Given the description of an element on the screen output the (x, y) to click on. 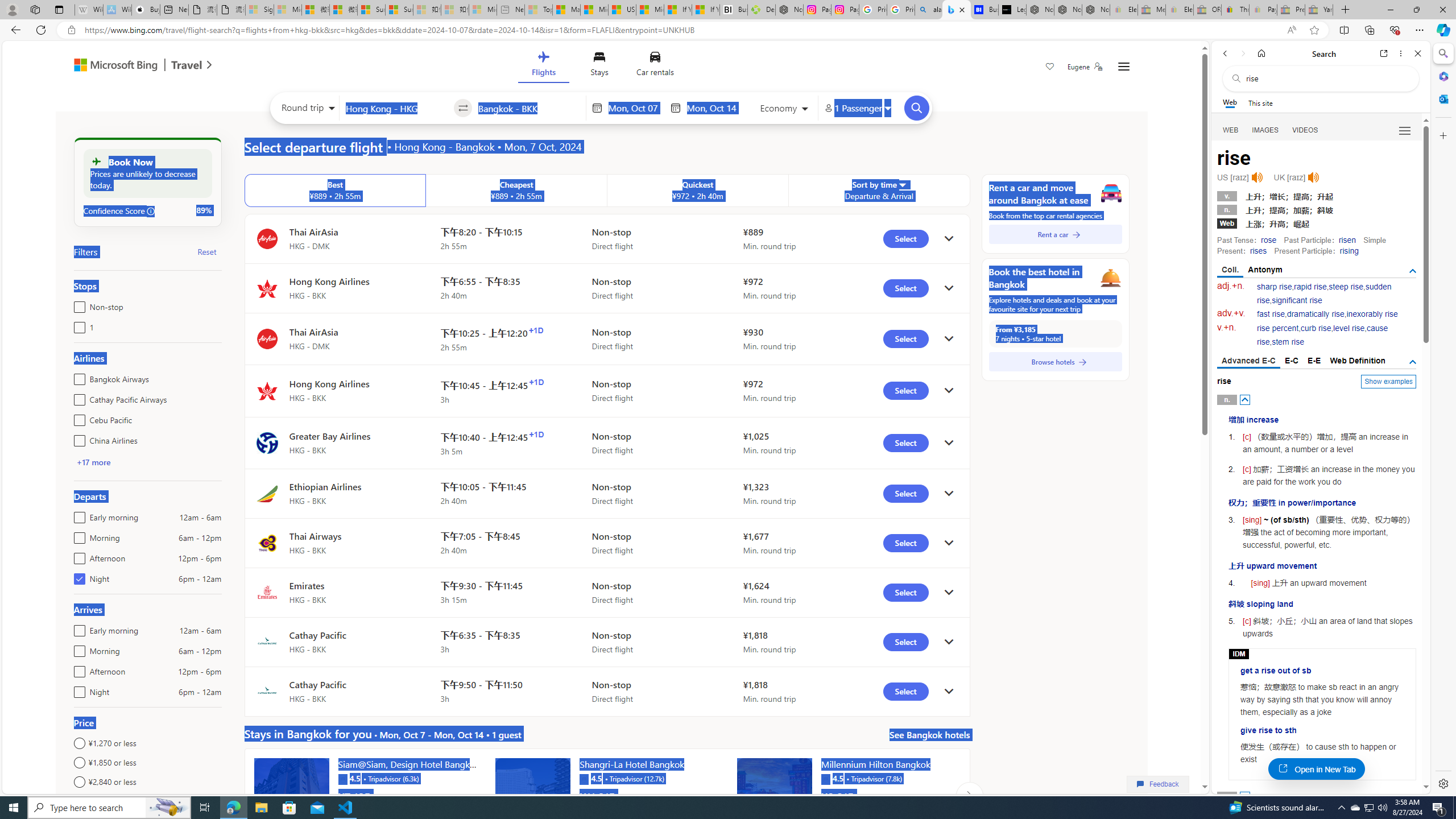
AutomationID: posbtn_1 (1245, 796)
Morning6am - 12pm (76, 648)
significant rise (1296, 300)
Sort by time Sorter Departure & Arrival (879, 190)
rise percent (1277, 328)
